Given the description of an element on the screen output the (x, y) to click on. 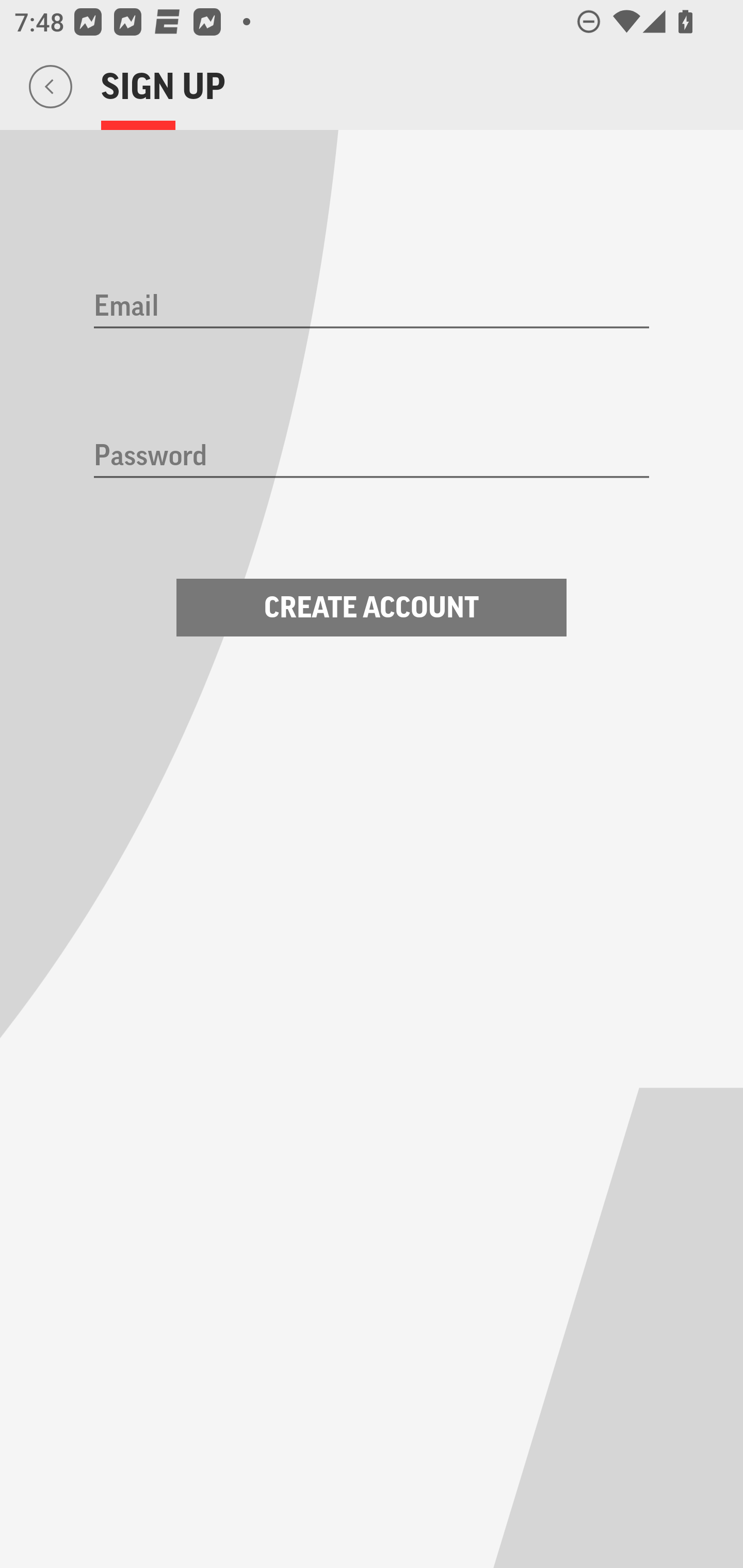
Email (371, 306)
Password (371, 456)
CREATE ACCOUNT (371, 607)
